Given the description of an element on the screen output the (x, y) to click on. 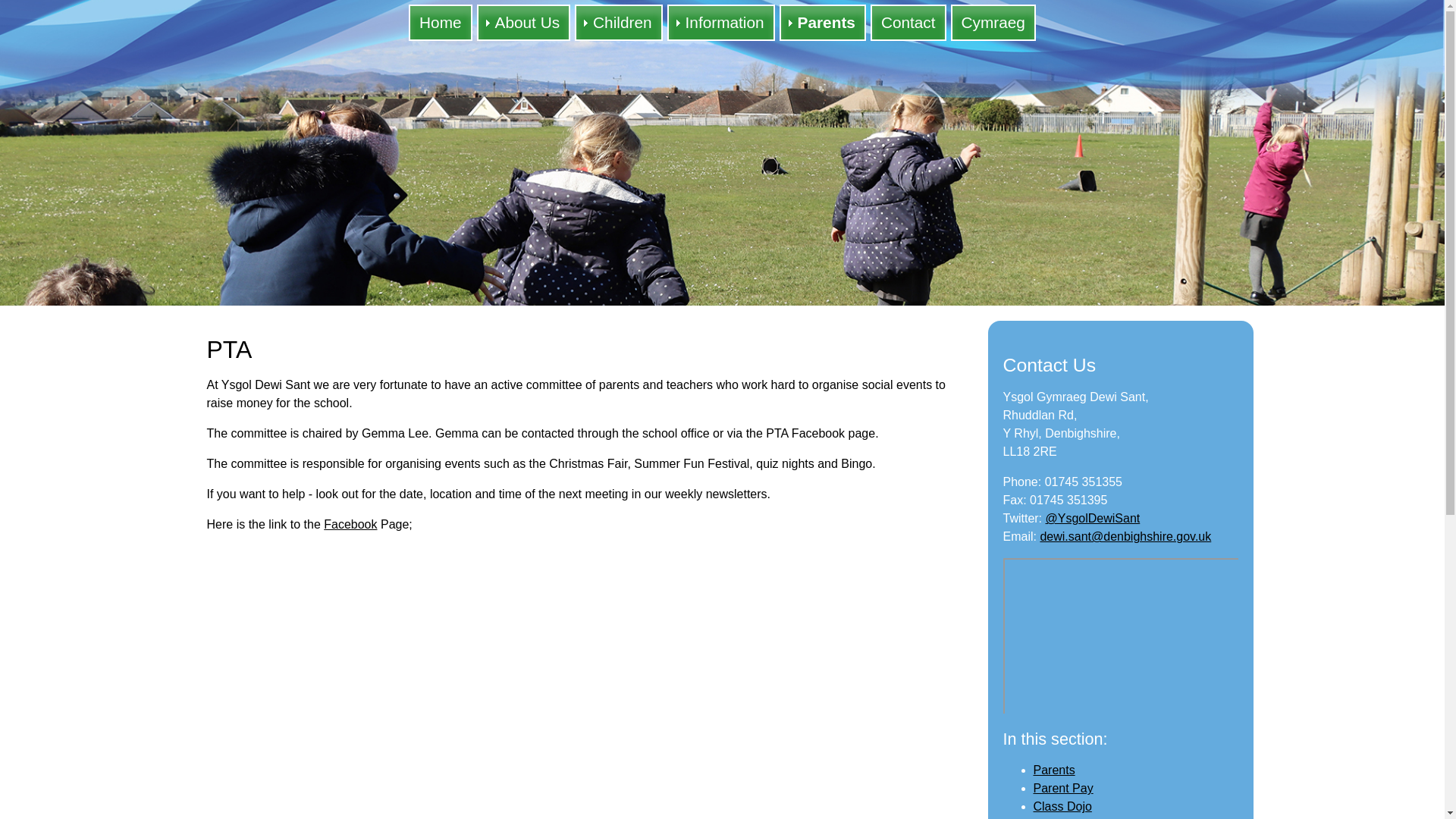
About Us (523, 22)
Cymraeg (992, 22)
Children (618, 22)
Information (720, 22)
Contact (908, 22)
Home (440, 22)
Parents (822, 22)
Facebook (350, 523)
